Given the description of an element on the screen output the (x, y) to click on. 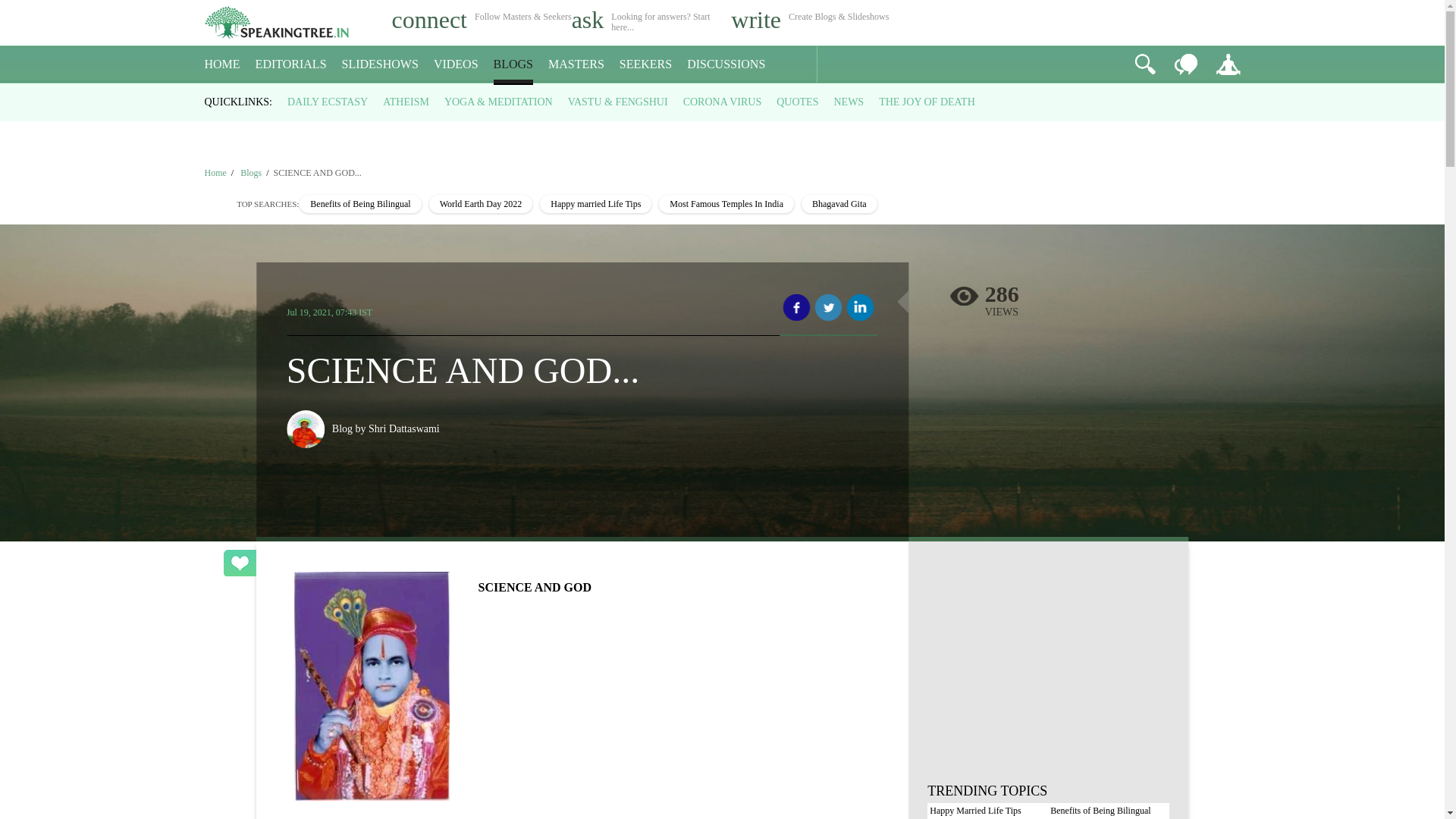
DISCUSSIONS (726, 64)
SLIDESHOWS (380, 64)
3rd party ad content (721, 124)
CORONA VIRUS (721, 101)
Share on LinkedIn (860, 307)
Share on Facebook (796, 307)
MASTERS (576, 64)
Share on Twitter (828, 307)
HOME (222, 64)
EDITORIALS (291, 64)
SEEKERS (645, 64)
Speaking Tree (216, 172)
DAILY ECSTASY (327, 101)
THE JOY OF DEATH (927, 101)
BLOGS (512, 64)
